Given the description of an element on the screen output the (x, y) to click on. 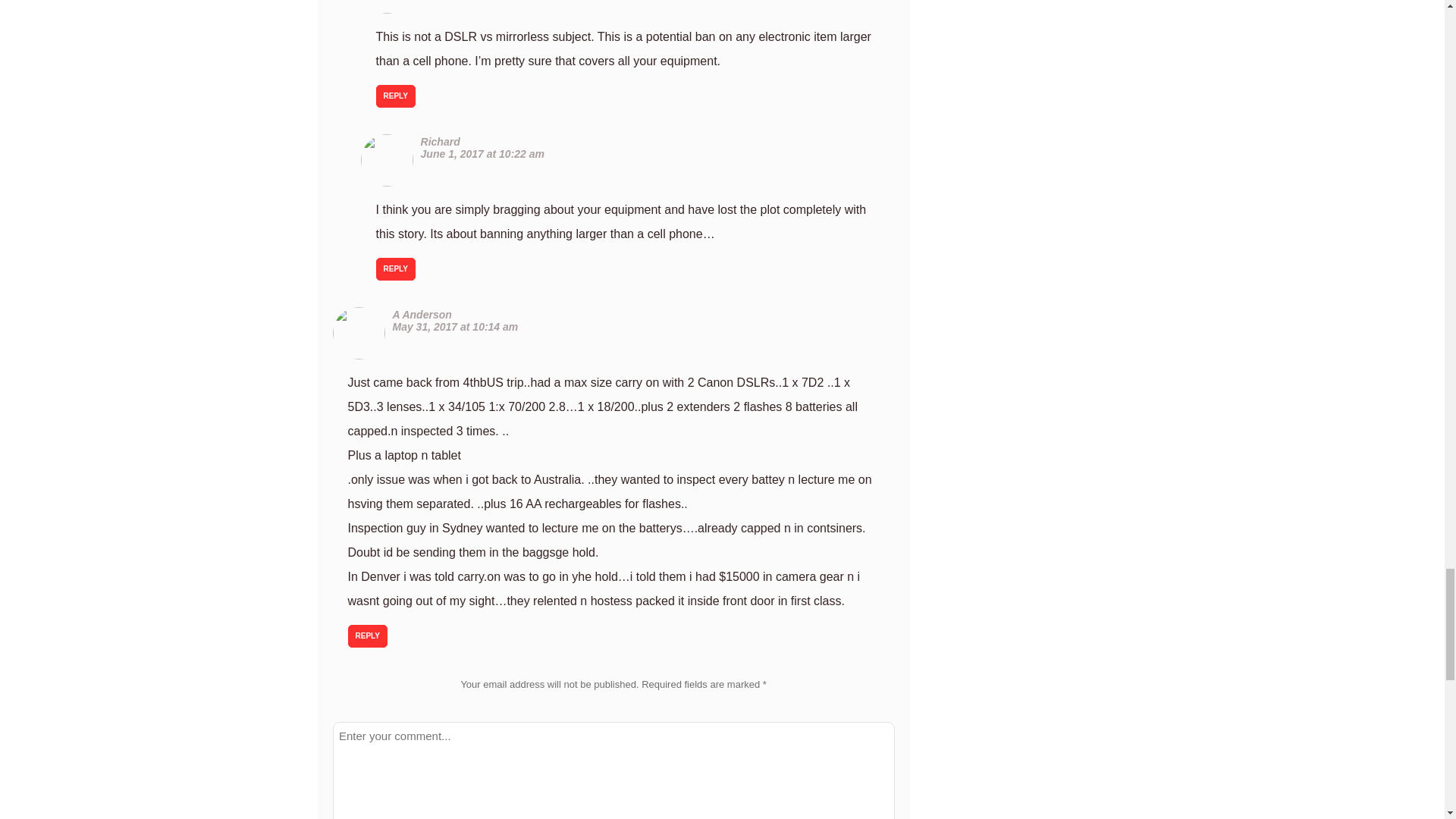
REPLY (367, 635)
REPLY (394, 268)
REPLY (394, 96)
